Given the description of an element on the screen output the (x, y) to click on. 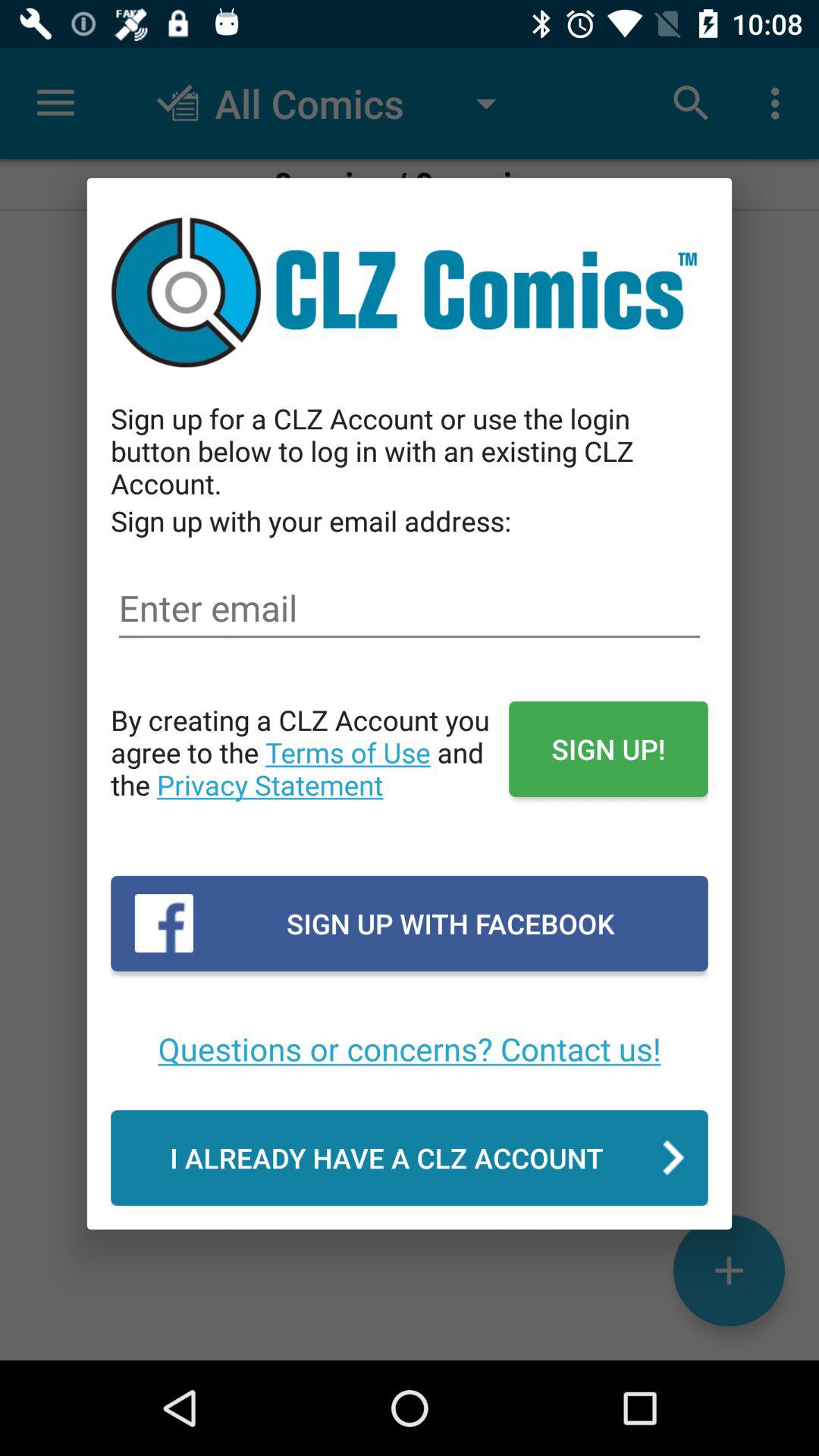
launch icon next to sign up! icon (309, 768)
